Given the description of an element on the screen output the (x, y) to click on. 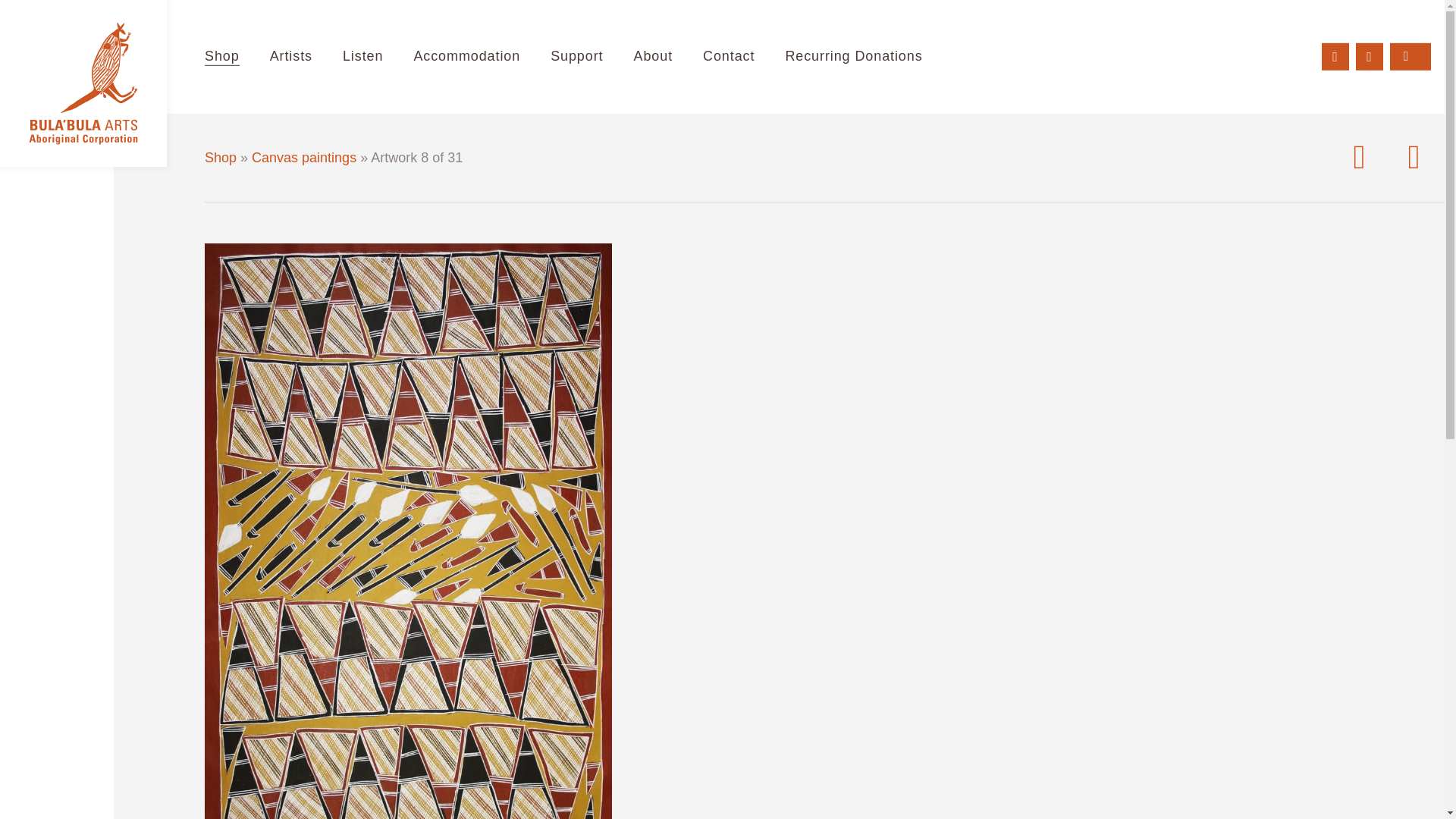
Shop (221, 56)
Support (576, 56)
Previous (1358, 157)
Follow us on Facebook (1335, 56)
Next (1414, 157)
Canvas paintings (303, 157)
Follow us on Instagram (1369, 56)
Contact (728, 56)
Go to Shopping Cart (1410, 56)
Accommodation (466, 56)
Shop (220, 157)
Artists (291, 56)
Recurring Donations (853, 56)
Listen (362, 56)
